Given the description of an element on the screen output the (x, y) to click on. 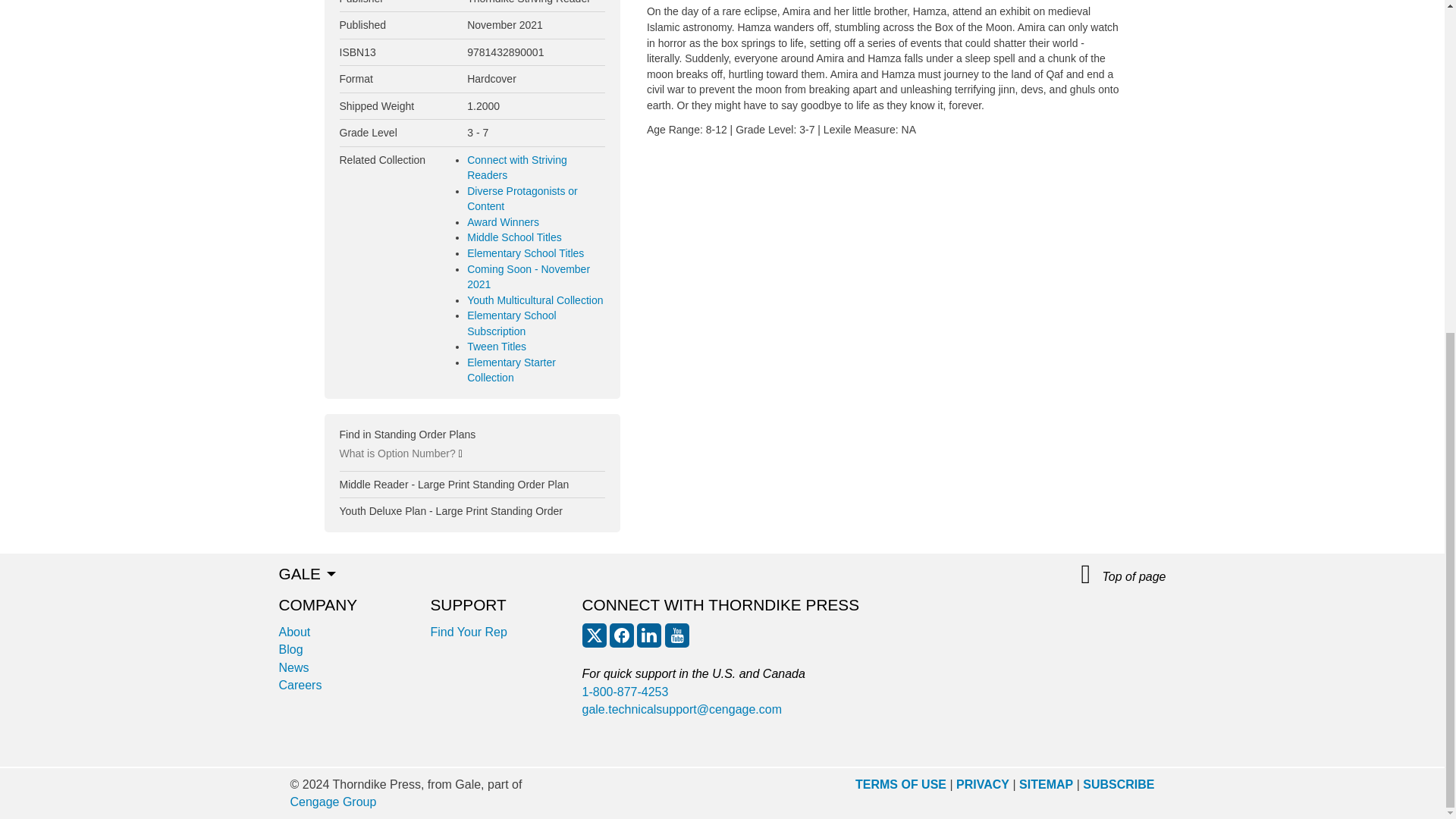
Top of page (1123, 574)
Top of page (1123, 574)
